Given the description of an element on the screen output the (x, y) to click on. 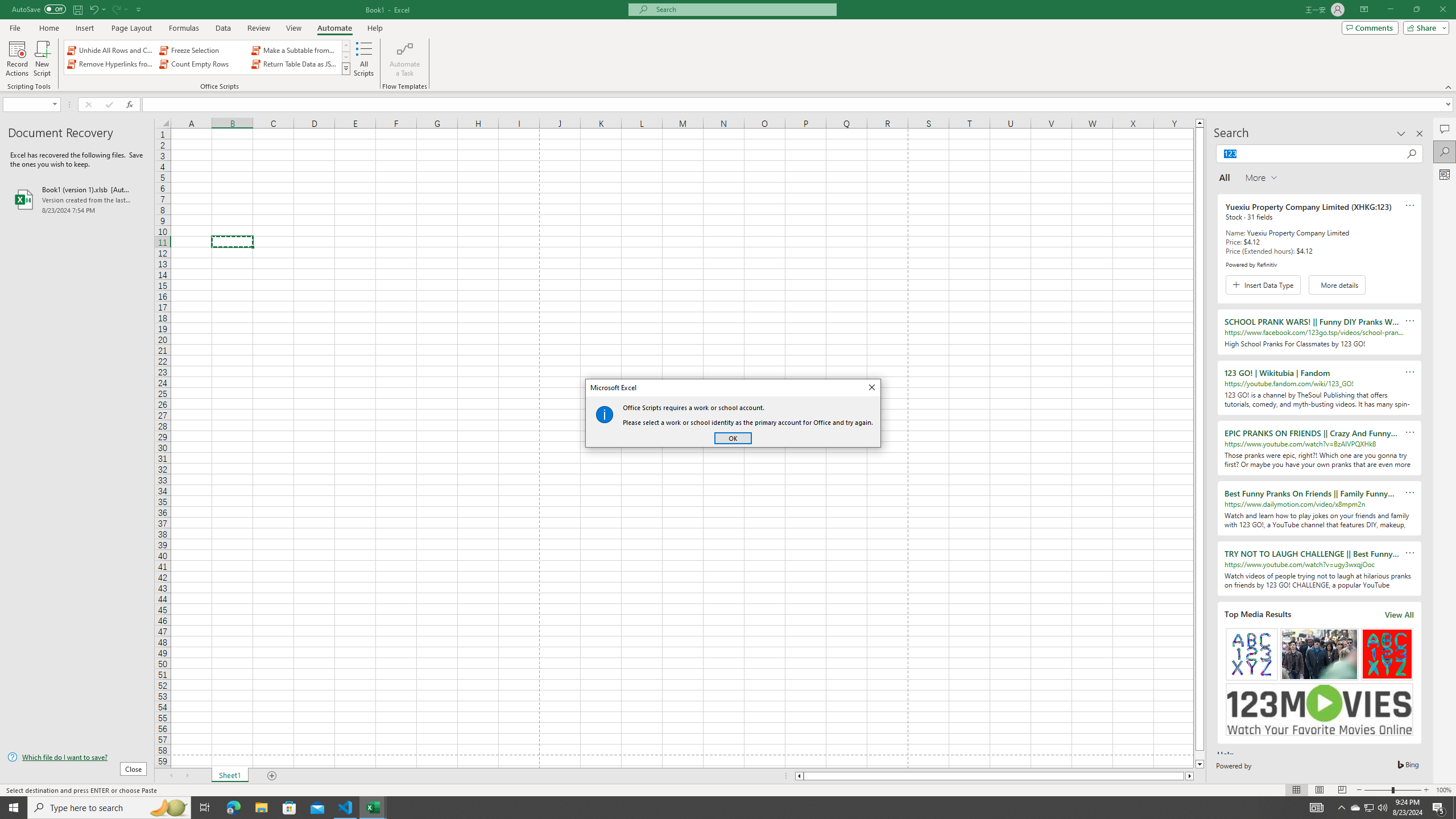
Microsoft Store (289, 807)
User Promoted Notification Area (1368, 807)
Q2790: 100% (1382, 807)
All Scripts (363, 58)
